Given the description of an element on the screen output the (x, y) to click on. 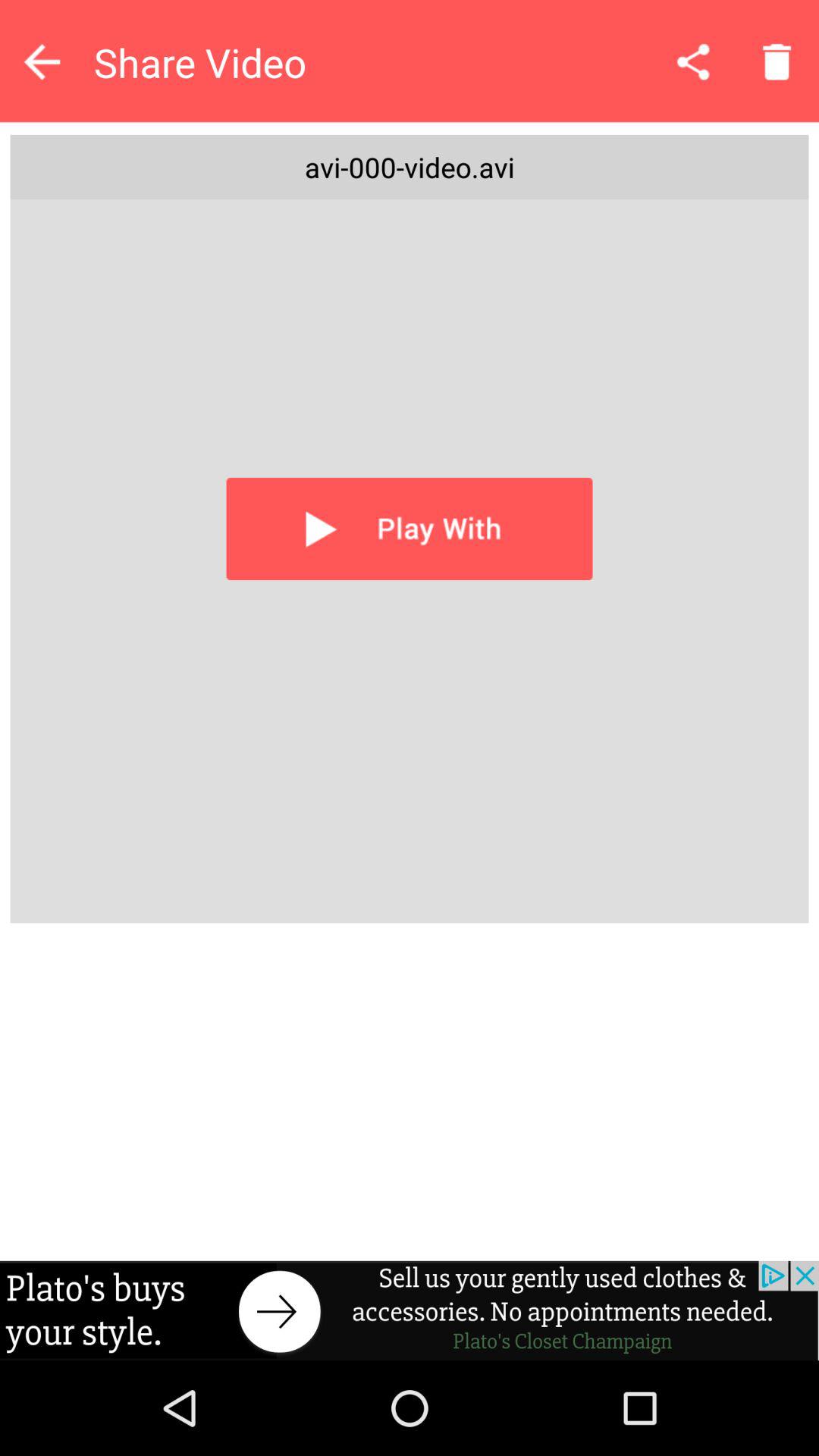
share (693, 61)
